Given the description of an element on the screen output the (x, y) to click on. 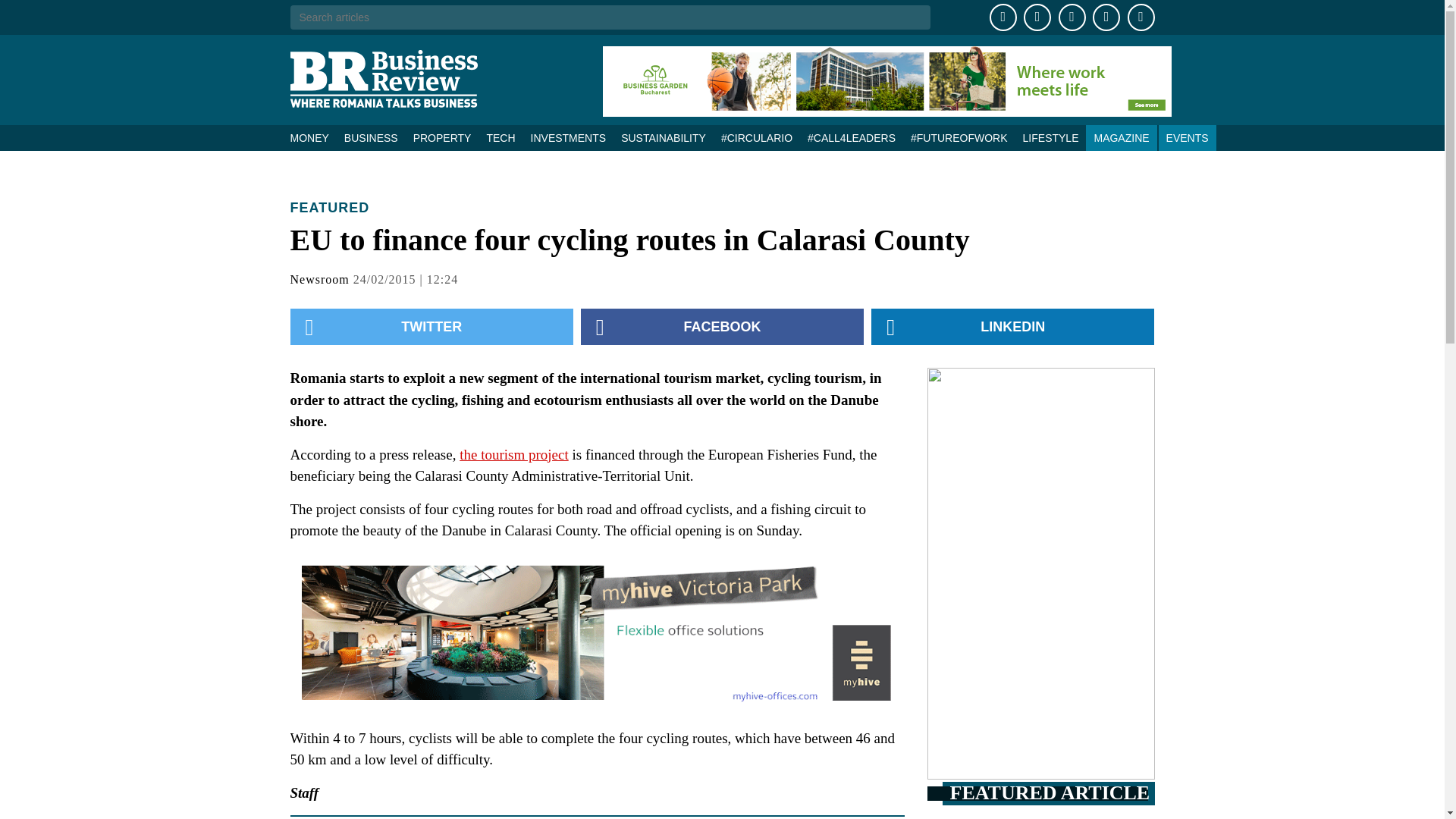
LIFESTYLE (1050, 137)
FACEBOOK (721, 326)
MAGAZINE (1121, 137)
TECH (500, 137)
PROPERTY (442, 137)
LINKEDIN (1012, 326)
FEATURED (329, 207)
the tourism project (514, 453)
BUSINESS (371, 137)
MONEY (312, 137)
